Given the description of an element on the screen output the (x, y) to click on. 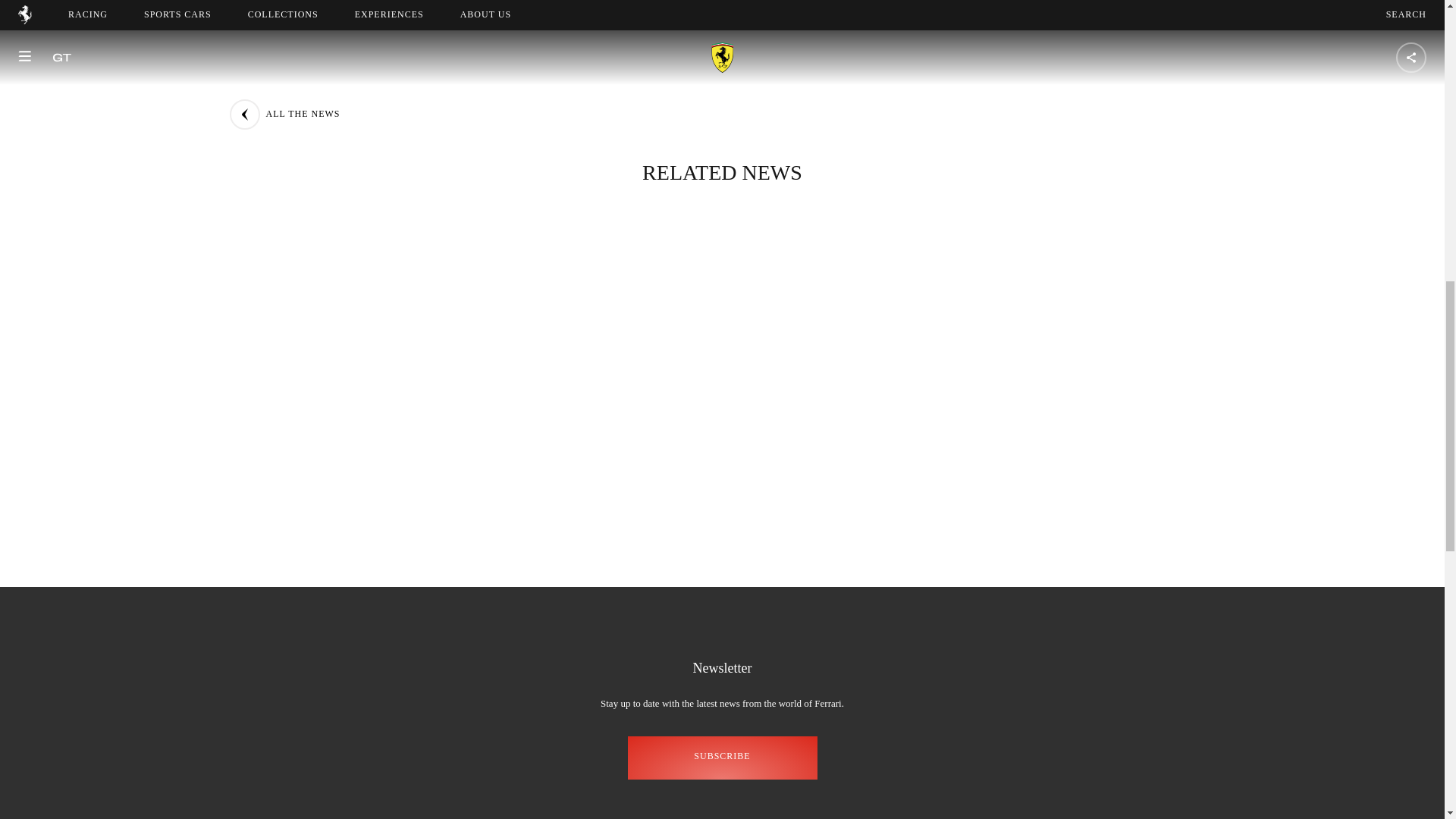
SUBSCRIBE (721, 757)
endurancebrazil.com (515, 54)
